Given the description of an element on the screen output the (x, y) to click on. 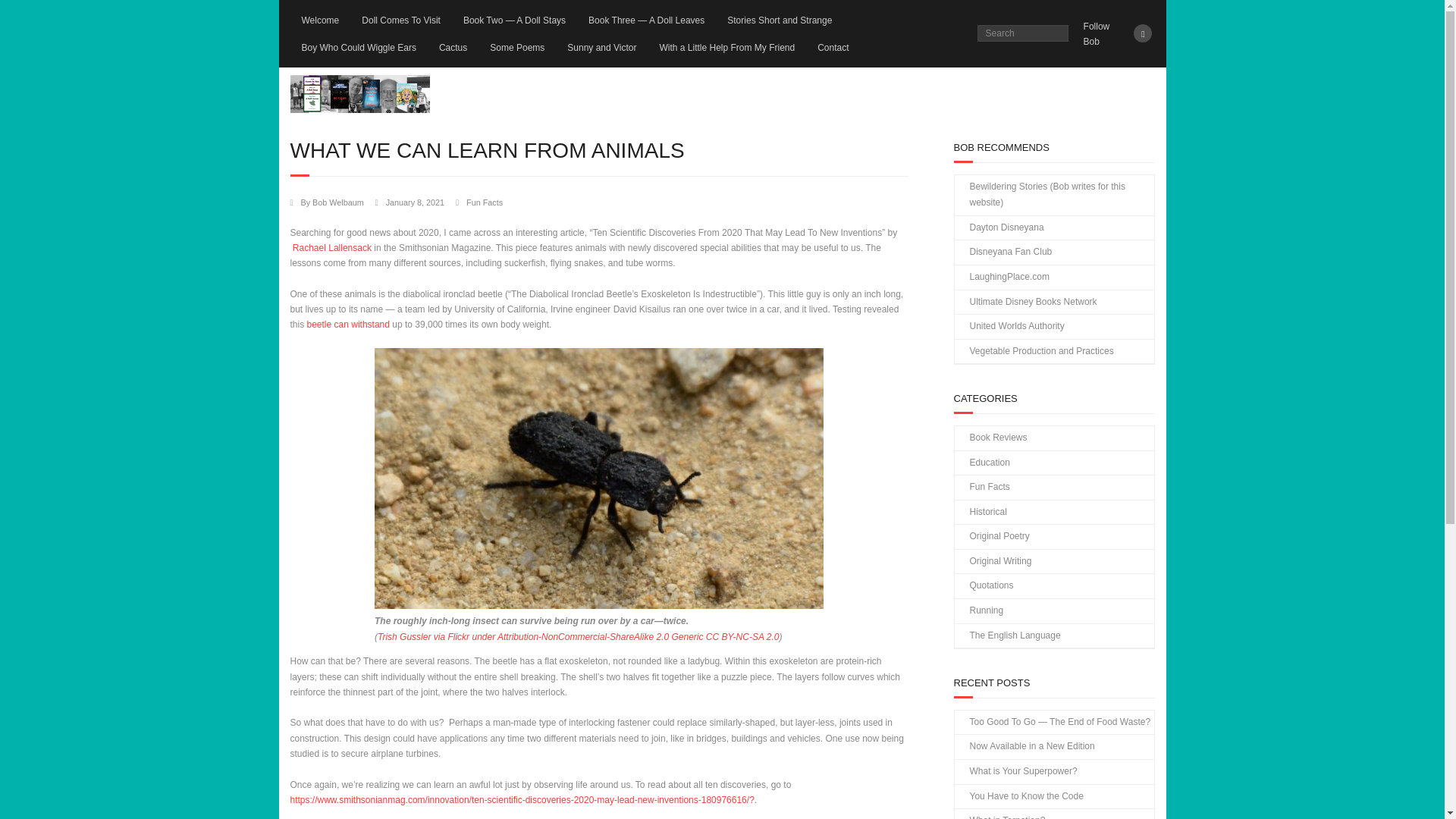
What We Can Learn From Animals (414, 202)
Boy Who Could Wiggle Ears (357, 46)
Contact (833, 46)
Stories Short and Strange (779, 19)
Doll Comes To Visit (400, 19)
With a Little Help From My Friend (726, 46)
Sunny and Victor (601, 46)
Search (25, 13)
View all posts by Bob Welbaum (338, 202)
Cactus (453, 46)
Some Poems (517, 46)
Welcome (319, 19)
January 8, 2021 (414, 202)
Bob Welbaum (338, 202)
